Given the description of an element on the screen output the (x, y) to click on. 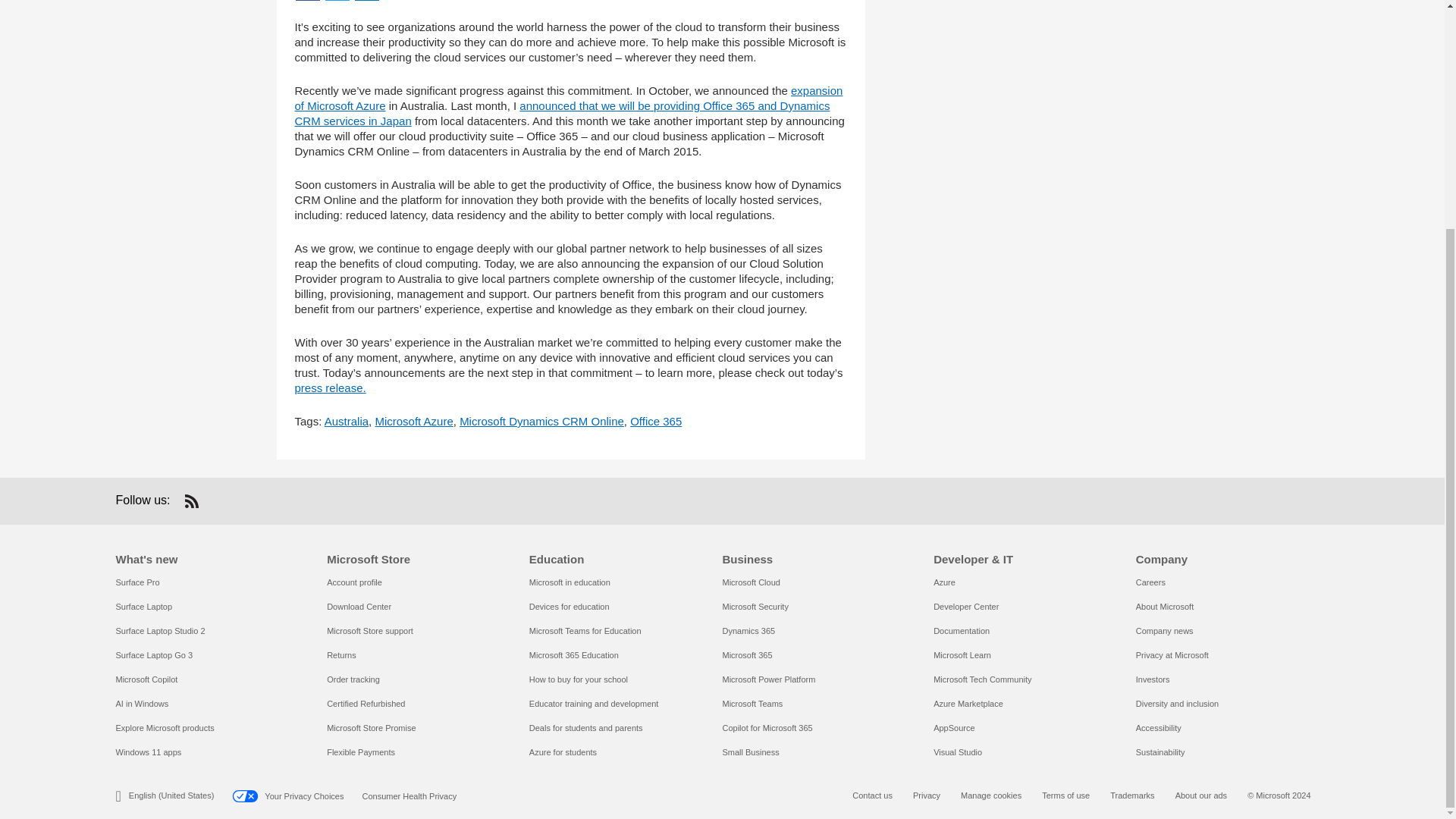
RSS Subscription (191, 500)
